Given the description of an element on the screen output the (x, y) to click on. 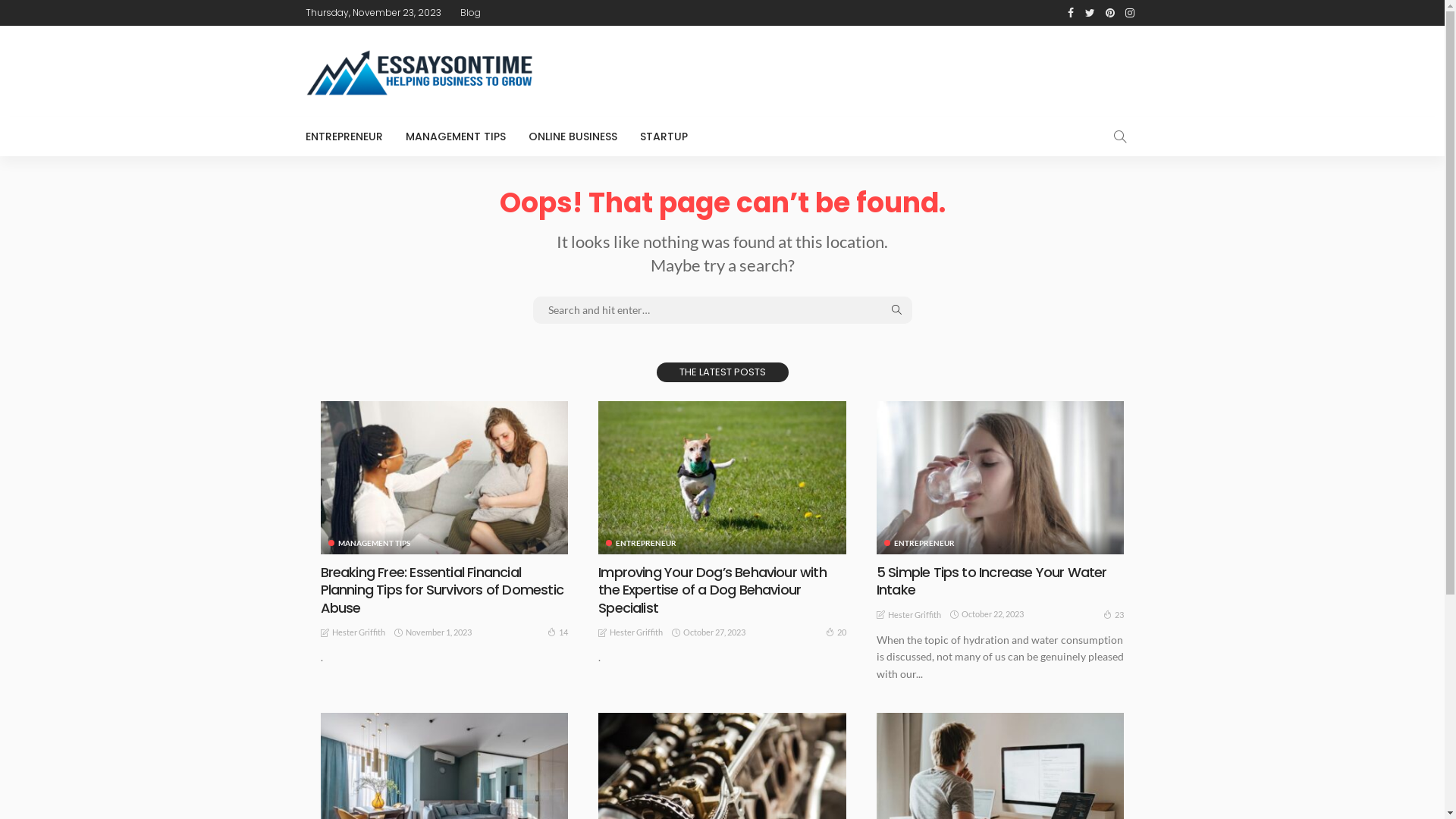
14 Element type: text (557, 632)
ENTREPRENEUR Element type: text (640, 542)
MANAGEMENT TIPS Element type: text (455, 136)
23 Element type: text (1113, 614)
STARTUP Element type: text (662, 136)
Blog Element type: text (469, 12)
search for: Element type: hover (721, 309)
5 Simple Tips to Increase Your Water Intake Element type: text (991, 580)
ENTREPRENEUR Element type: text (348, 136)
Hester Griffith Element type: text (635, 632)
search Element type: hover (1119, 136)
MANAGEMENT TIPS Element type: text (368, 542)
5 Simple Tips to Increase Your Water Intake Element type: hover (1000, 477)
ENTREPRENEUR Element type: text (919, 542)
ONLINE BUSINESS Element type: text (572, 136)
Hester Griffith Element type: text (914, 614)
20 Element type: text (835, 632)
Hester Griffith Element type: text (358, 632)
